Given the description of an element on the screen output the (x, y) to click on. 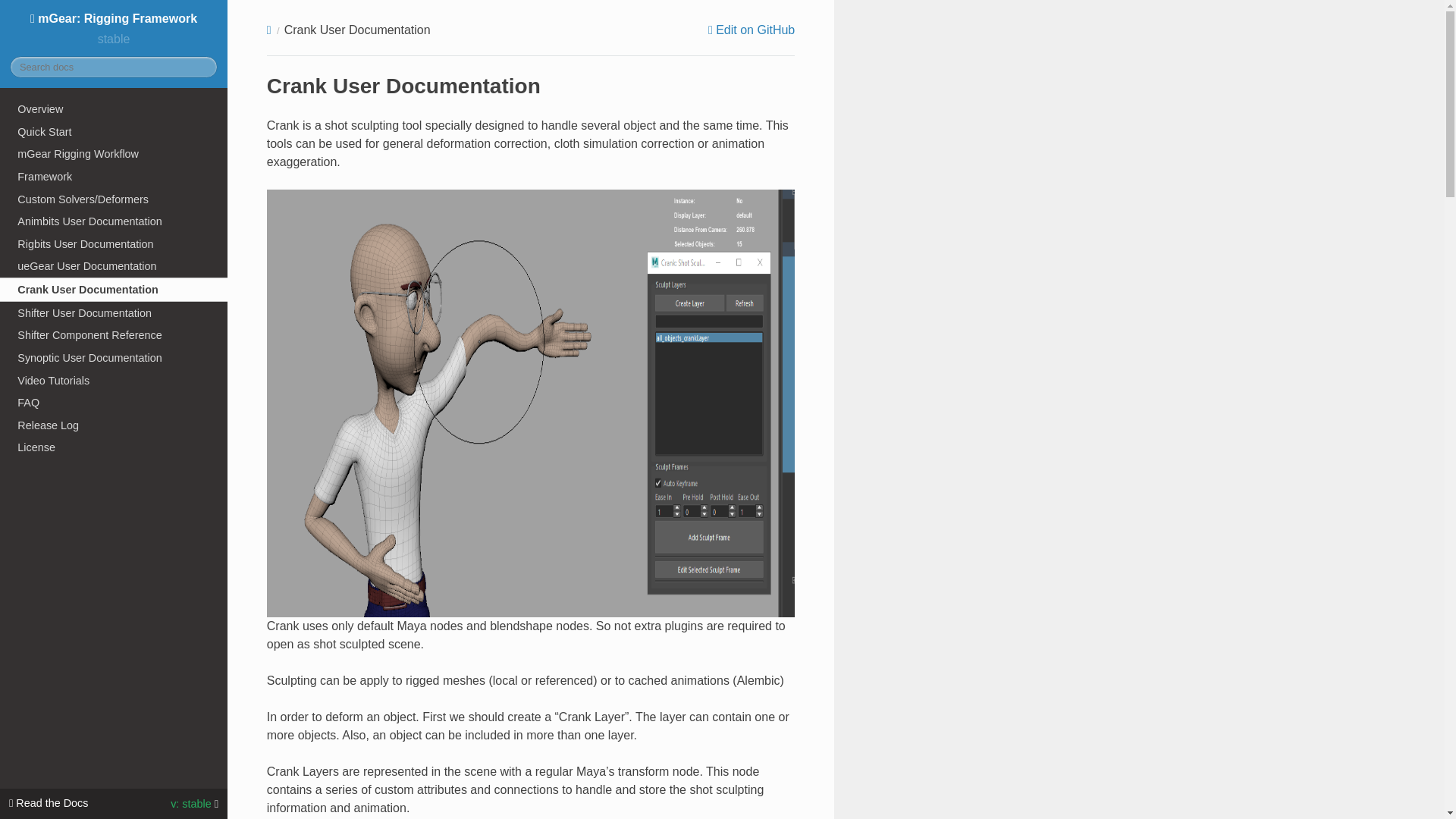
Animbits User Documentation (113, 220)
Edit on GitHub (750, 30)
Quick Start (113, 131)
ueGear User Documentation (113, 266)
License (113, 447)
Framework (113, 176)
Crank User Documentation (113, 289)
mGear Rigging Workflow (113, 153)
Release Log (113, 425)
Video Tutorials (113, 380)
